Given the description of an element on the screen output the (x, y) to click on. 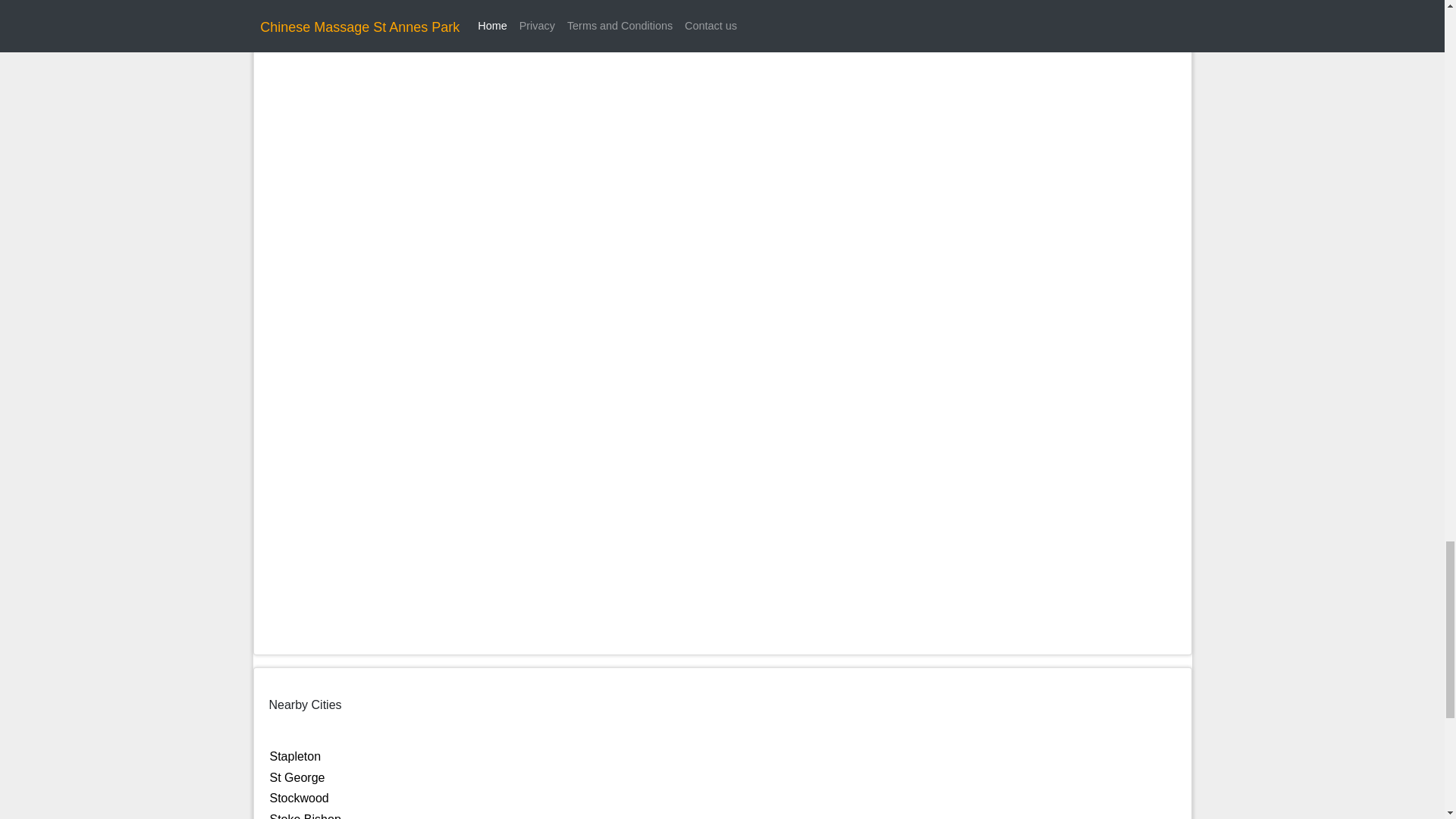
Stoke Bishop (304, 816)
St George (296, 777)
Stapleton (295, 756)
Stockwood (299, 797)
